Given the description of an element on the screen output the (x, y) to click on. 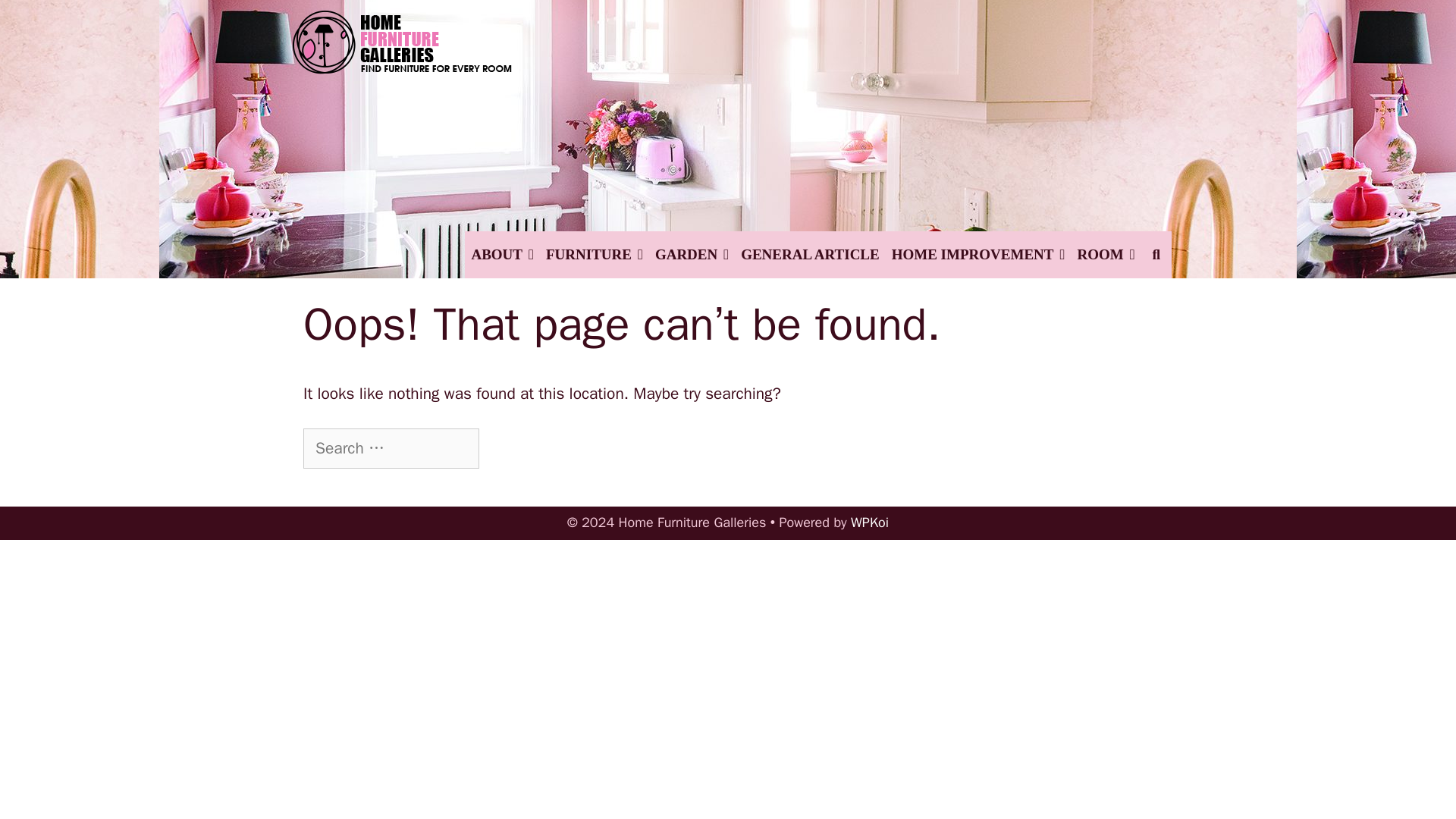
Home Furniture Galleries (401, 117)
GENERAL ARTICLE (810, 254)
GARDEN (692, 254)
Search (353, 23)
HOME IMPROVEMENT (978, 254)
FURNITURE (594, 254)
Home Furniture Galleries (401, 116)
Search for: (390, 448)
ABOUT (502, 254)
Search (518, 448)
Search (518, 448)
